Given the description of an element on the screen output the (x, y) to click on. 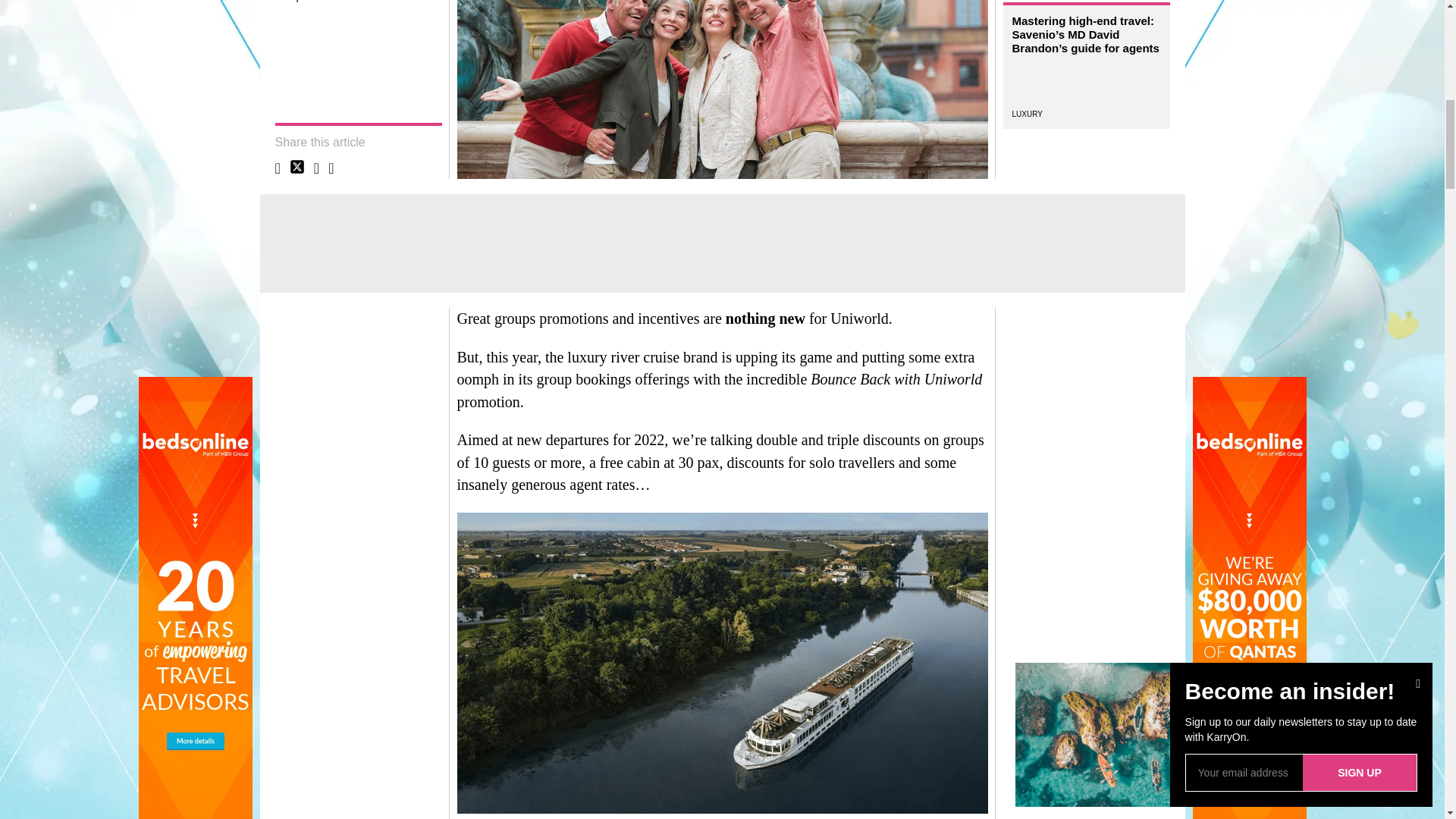
Twitter share (296, 166)
